Given the description of an element on the screen output the (x, y) to click on. 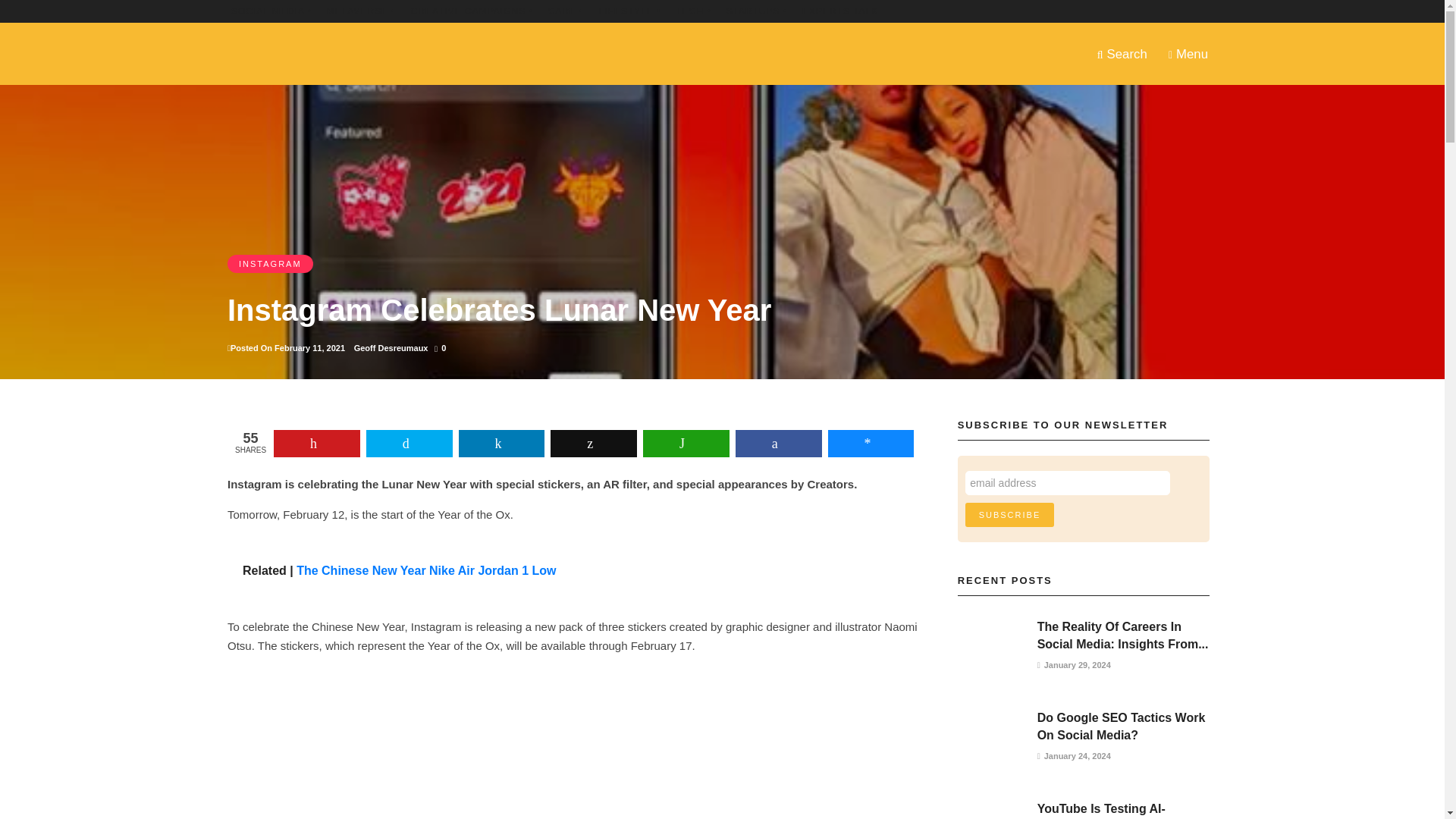
Geoff Desreumaux (390, 347)
top-bar (471, 10)
Share on - (778, 443)
top-bar (629, 10)
Share on - (316, 443)
top-bar (692, 10)
top-bar (361, 10)
Share on - (871, 443)
top-bar (756, 10)
top-bar (839, 10)
